Given the description of an element on the screen output the (x, y) to click on. 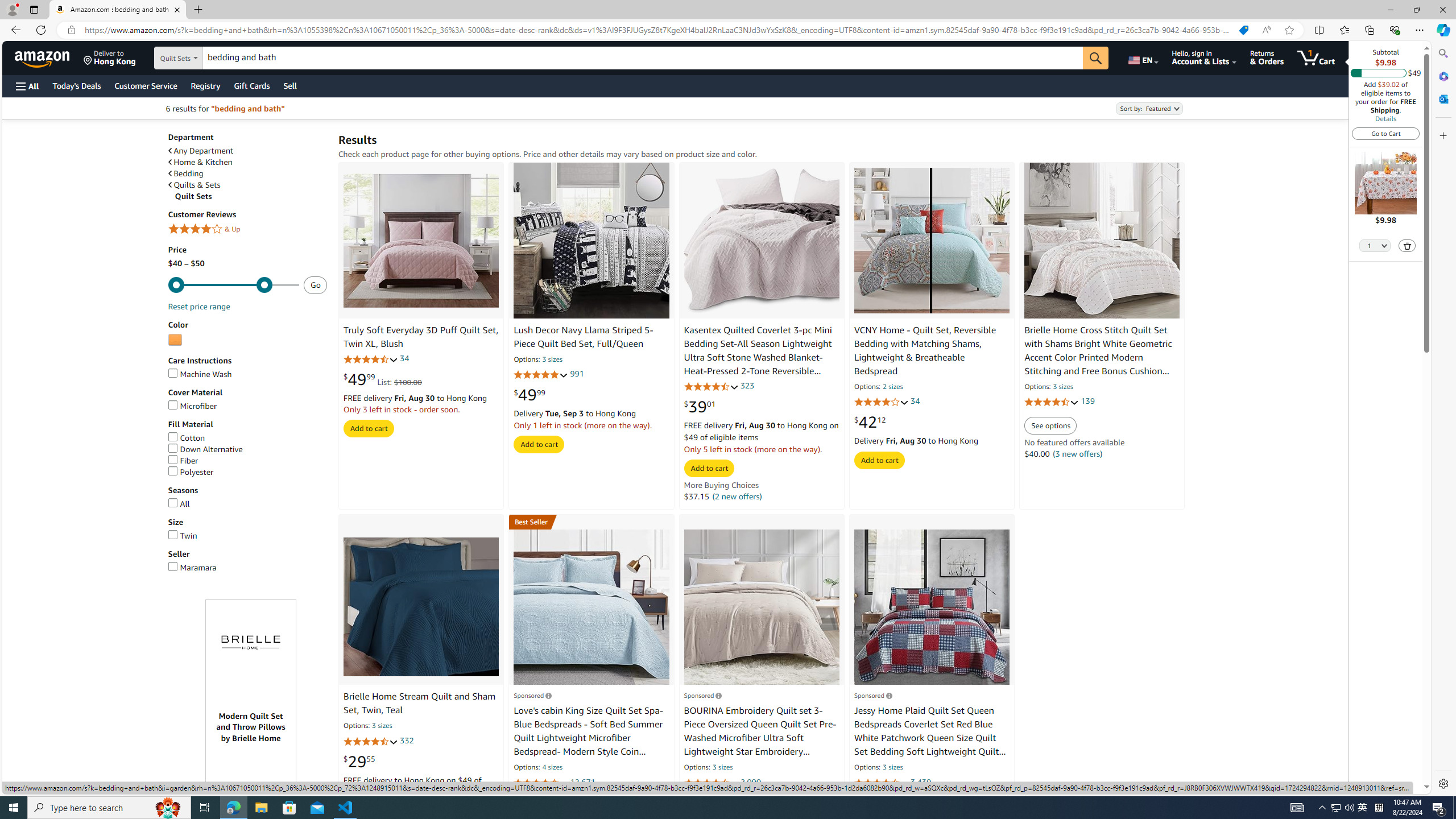
1 item in cart (1315, 57)
Go to Cart (1385, 133)
3.9 out of 5 stars (880, 402)
Go back to filtering menu (48, 788)
Maramara (247, 567)
App bar (728, 29)
Orange (174, 340)
34 (915, 401)
Twin (182, 535)
Deliver to Hong Kong (109, 57)
